Given the description of an element on the screen output the (x, y) to click on. 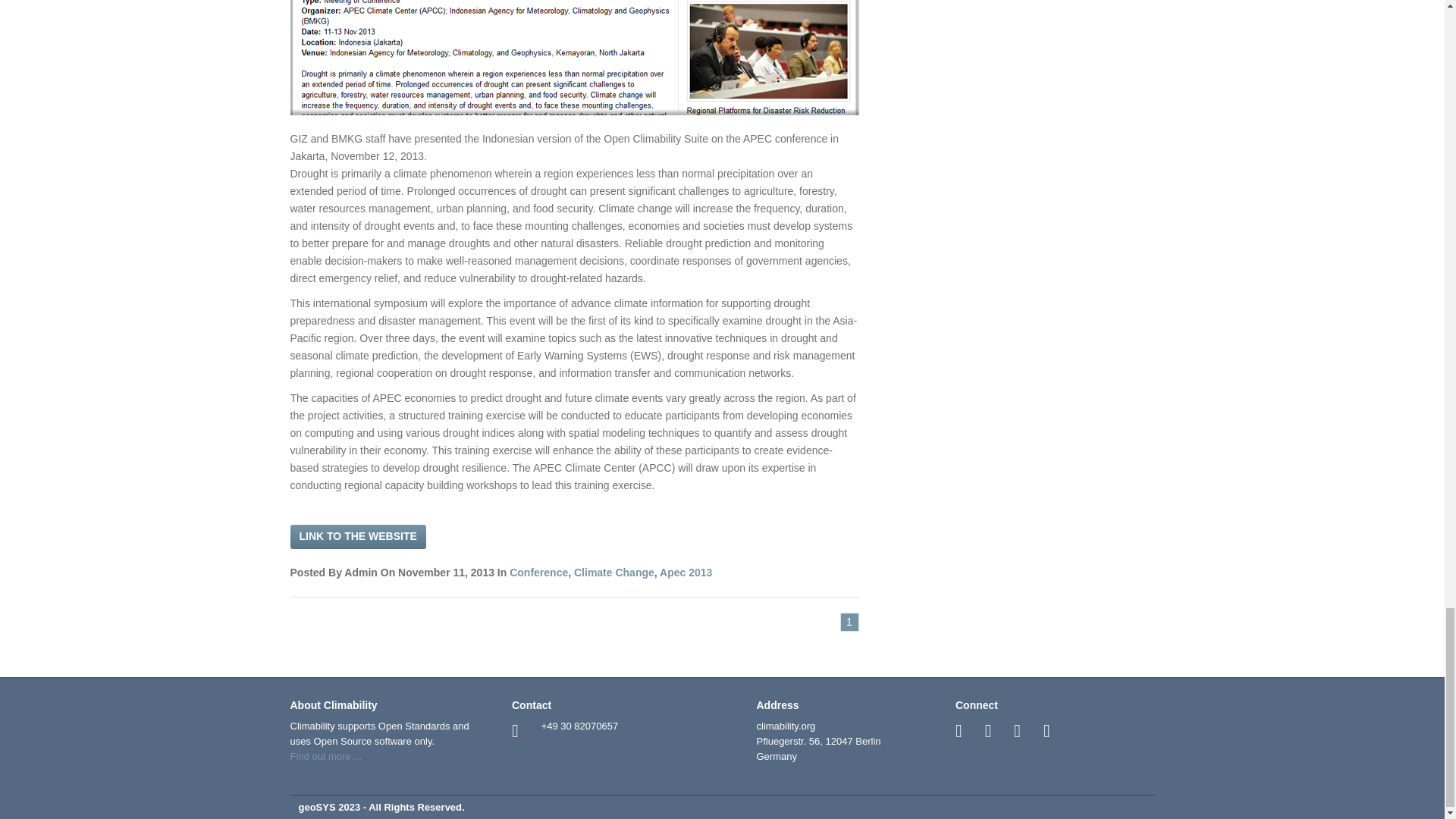
Climate Change (613, 572)
Apec 2013 (685, 572)
LINK TO THE WEBSITE (357, 536)
Conference (538, 572)
